Given the description of an element on the screen output the (x, y) to click on. 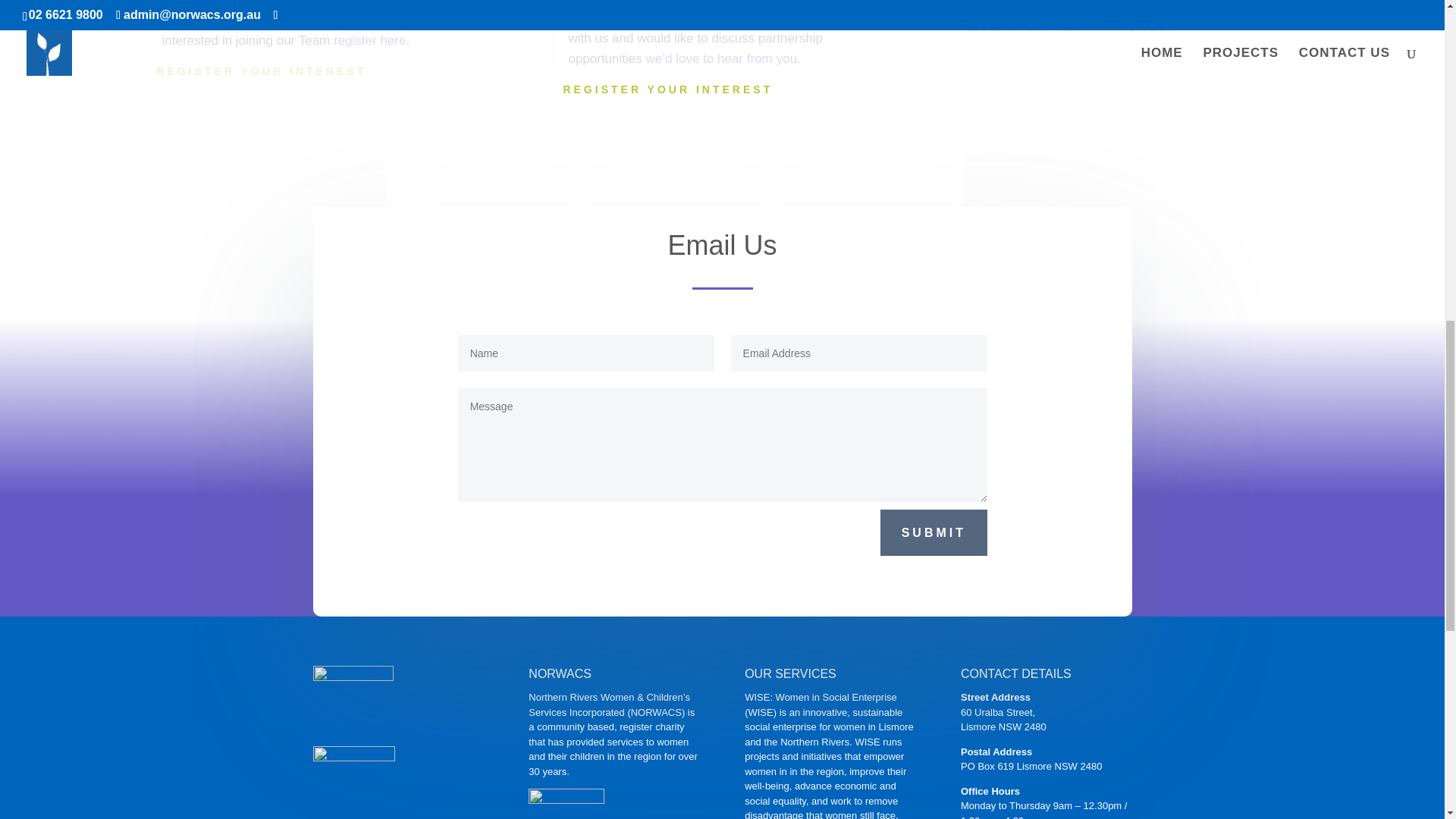
REGISTER YOUR INTEREST (261, 71)
register here (369, 40)
REGISTER YOUR INTEREST (667, 90)
REGISTER YOUR INTEREST (1073, 28)
register your interest here (1183, 2)
SUBMIT (933, 532)
